Given the description of an element on the screen output the (x, y) to click on. 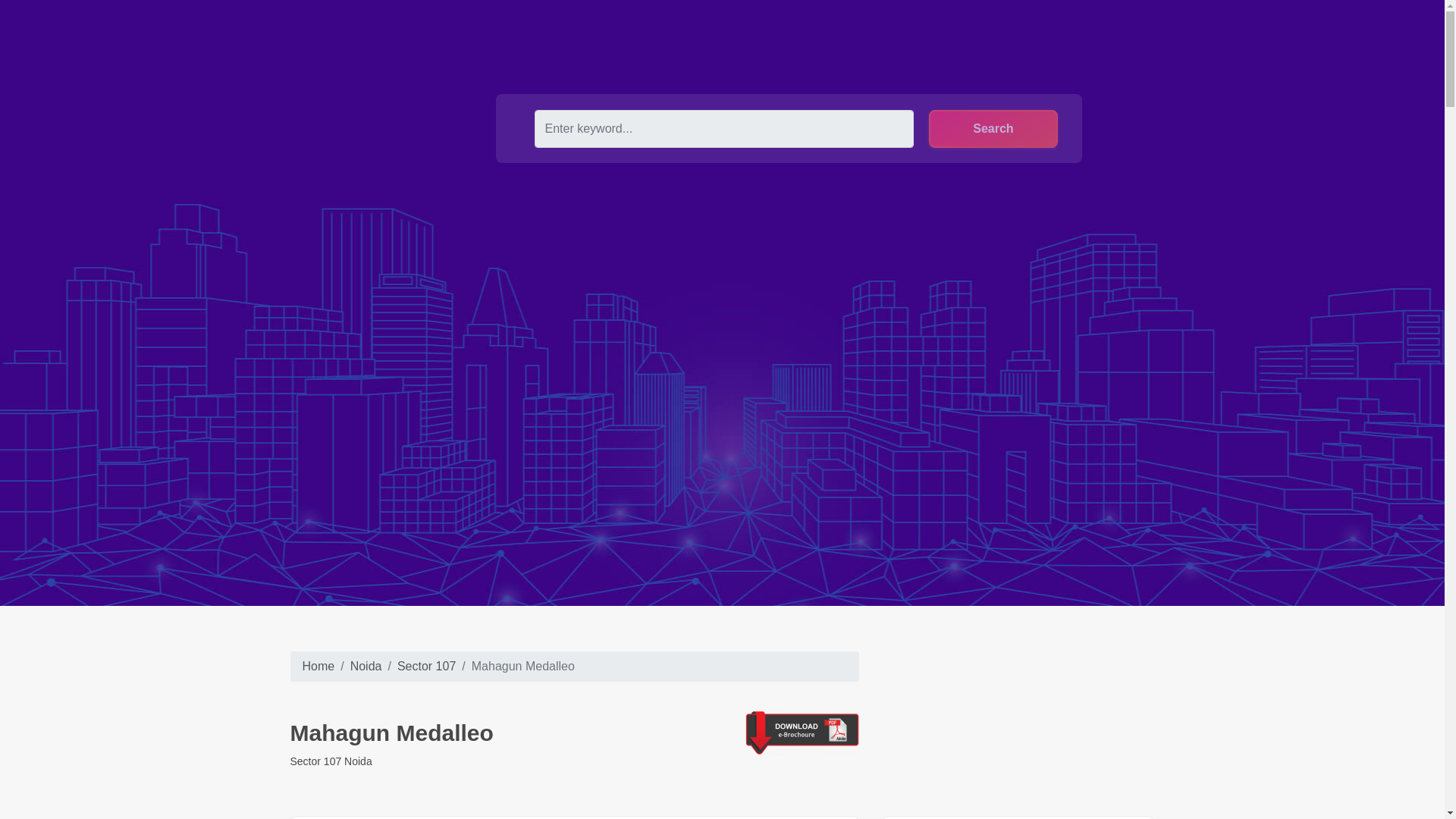
Contact (699, 36)
Home (317, 666)
Noida (365, 666)
Search (993, 128)
Create Listing (913, 39)
Projects (634, 36)
Sector 107 (426, 666)
Properties (561, 36)
